Given the description of an element on the screen output the (x, y) to click on. 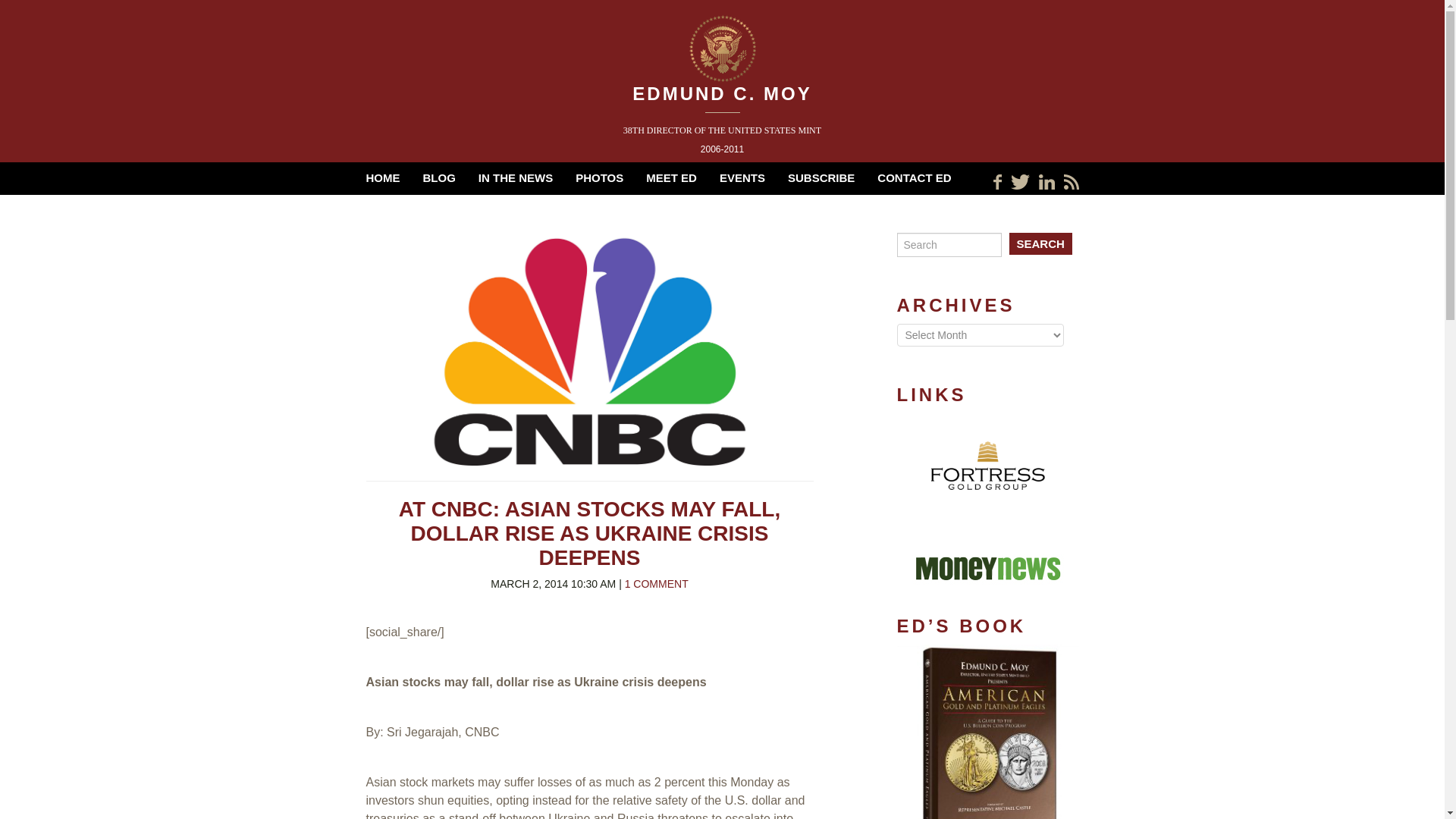
MEET ED (671, 177)
EVENTS (742, 177)
CONTACT ED (913, 177)
Twitter (1019, 181)
HOME (381, 177)
Linkedin (1046, 181)
PHOTOS (599, 177)
SEARCH (1040, 243)
1 COMMENT (656, 583)
RSS (1070, 181)
IN THE NEWS (516, 177)
SUBSCRIBE (820, 177)
